Given the description of an element on the screen output the (x, y) to click on. 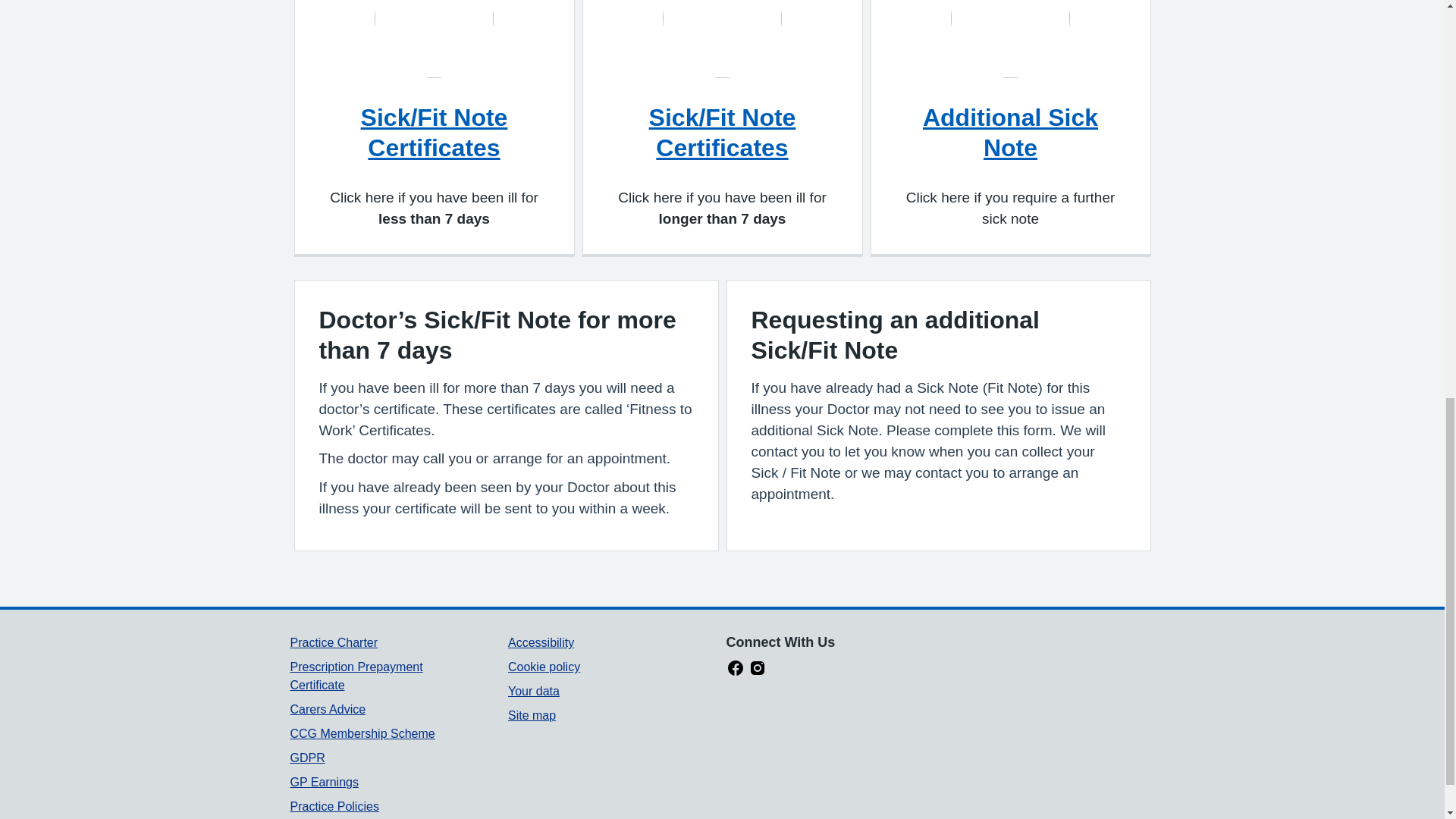
Practice Policies (333, 806)
Additional Sick Note (1010, 132)
CCG Membership Scheme (361, 733)
GP Earnings (323, 781)
Carers Advice (327, 708)
Practice Charter (333, 642)
Accessibility (540, 642)
Your data (533, 690)
Cookie policy (543, 666)
Prescription Prepayment Certificate (355, 675)
GDPR (306, 757)
